Given the description of an element on the screen output the (x, y) to click on. 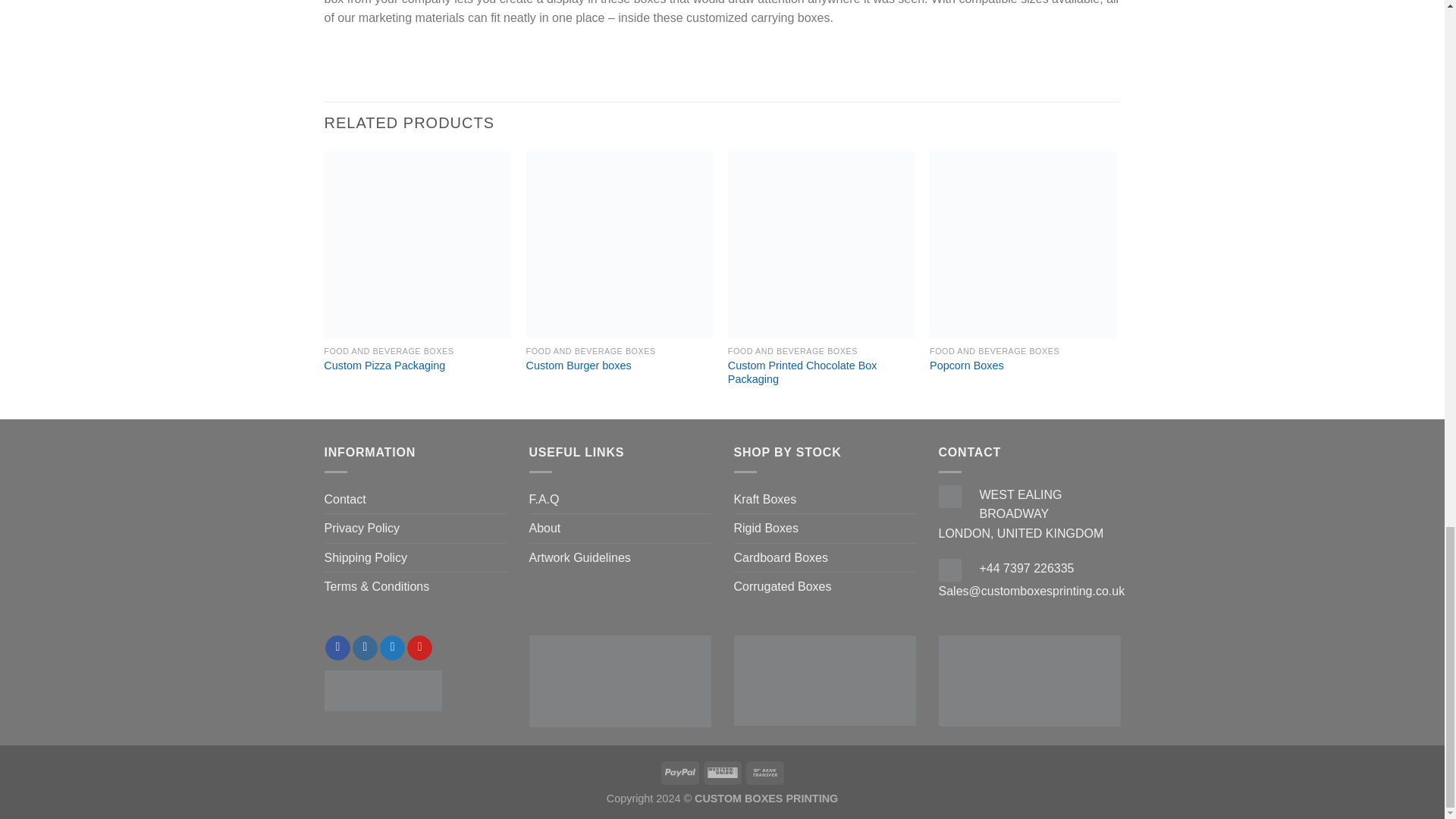
Follow on Pinterest (419, 647)
Follow on Facebook (337, 647)
Follow on Instagram (364, 647)
Follow on Twitter (392, 647)
